Given the description of an element on the screen output the (x, y) to click on. 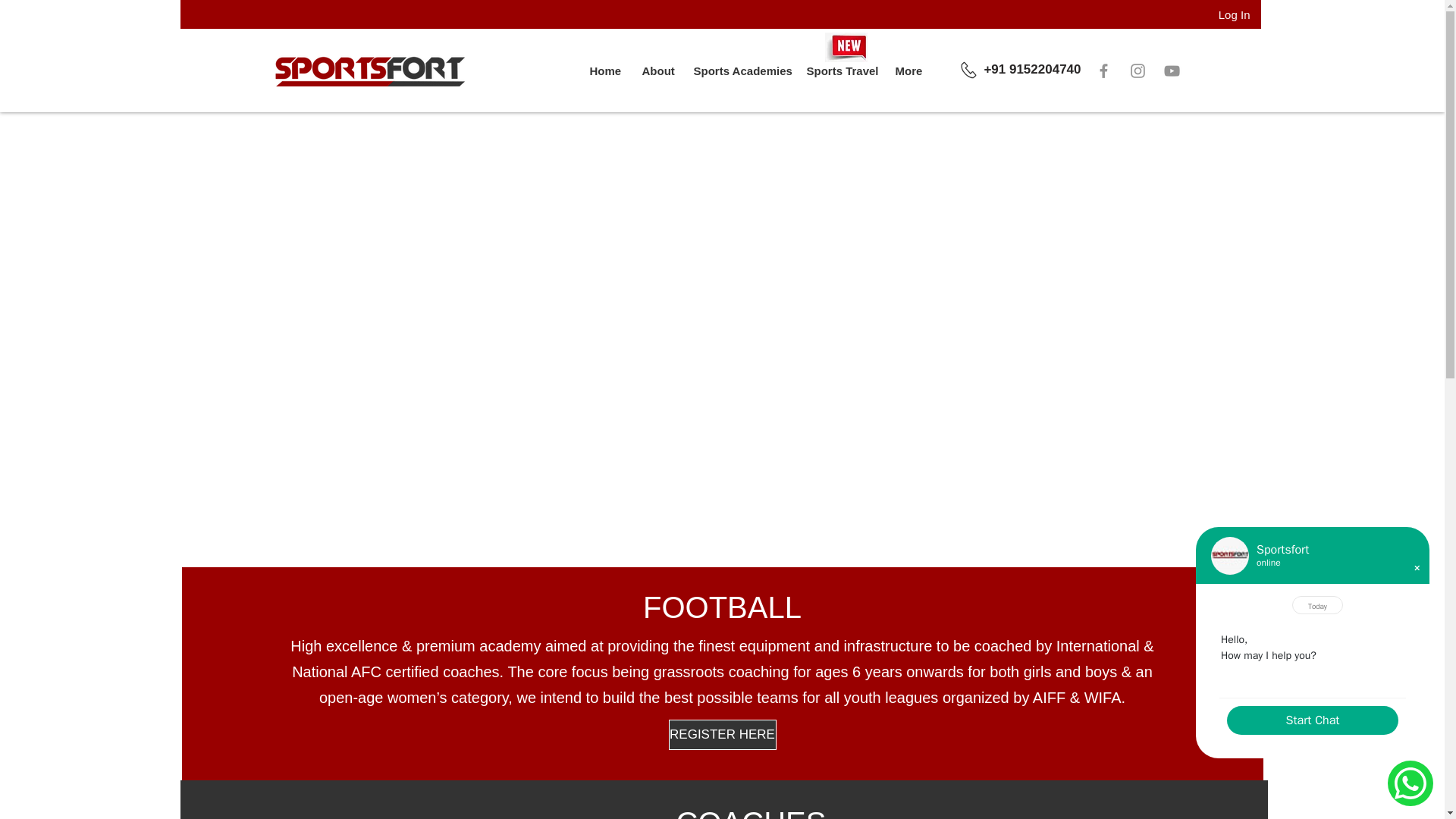
Sports Travel (838, 70)
Iframe Example (1312, 642)
Home (604, 70)
REGISTER HERE (722, 734)
Log In (1234, 13)
About (656, 70)
